Given the description of an element on the screen output the (x, y) to click on. 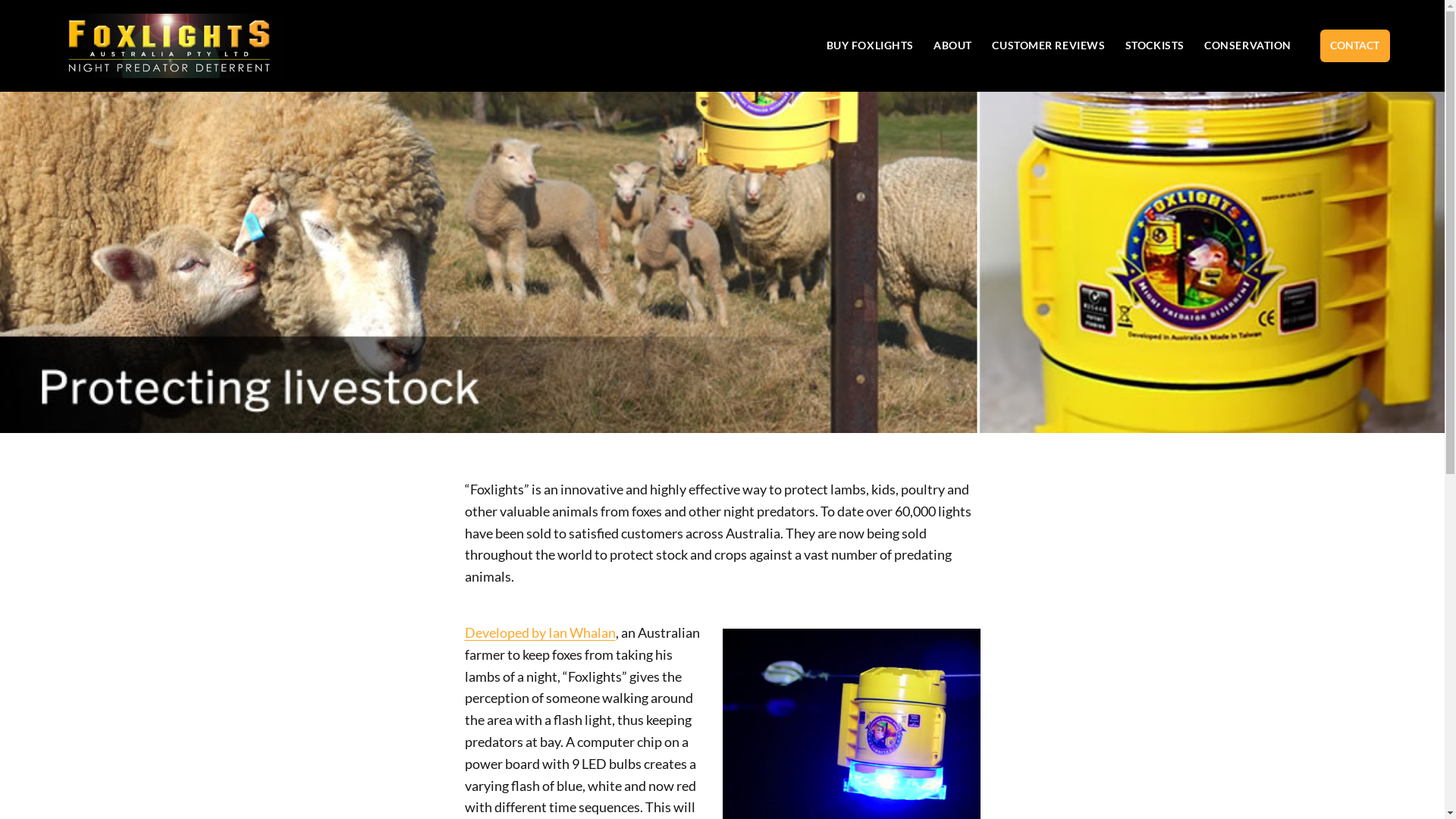
STOCKISTS Element type: text (1154, 45)
BUY FOXLIGHTS Element type: text (869, 45)
ABOUT Element type: text (952, 45)
Developed by Ian Whalan Element type: text (539, 632)
CUSTOMER REVIEWS Element type: text (1048, 45)
CONTACT Element type: text (1354, 45)
CONSERVATION Element type: text (1247, 45)
